Given the description of an element on the screen output the (x, y) to click on. 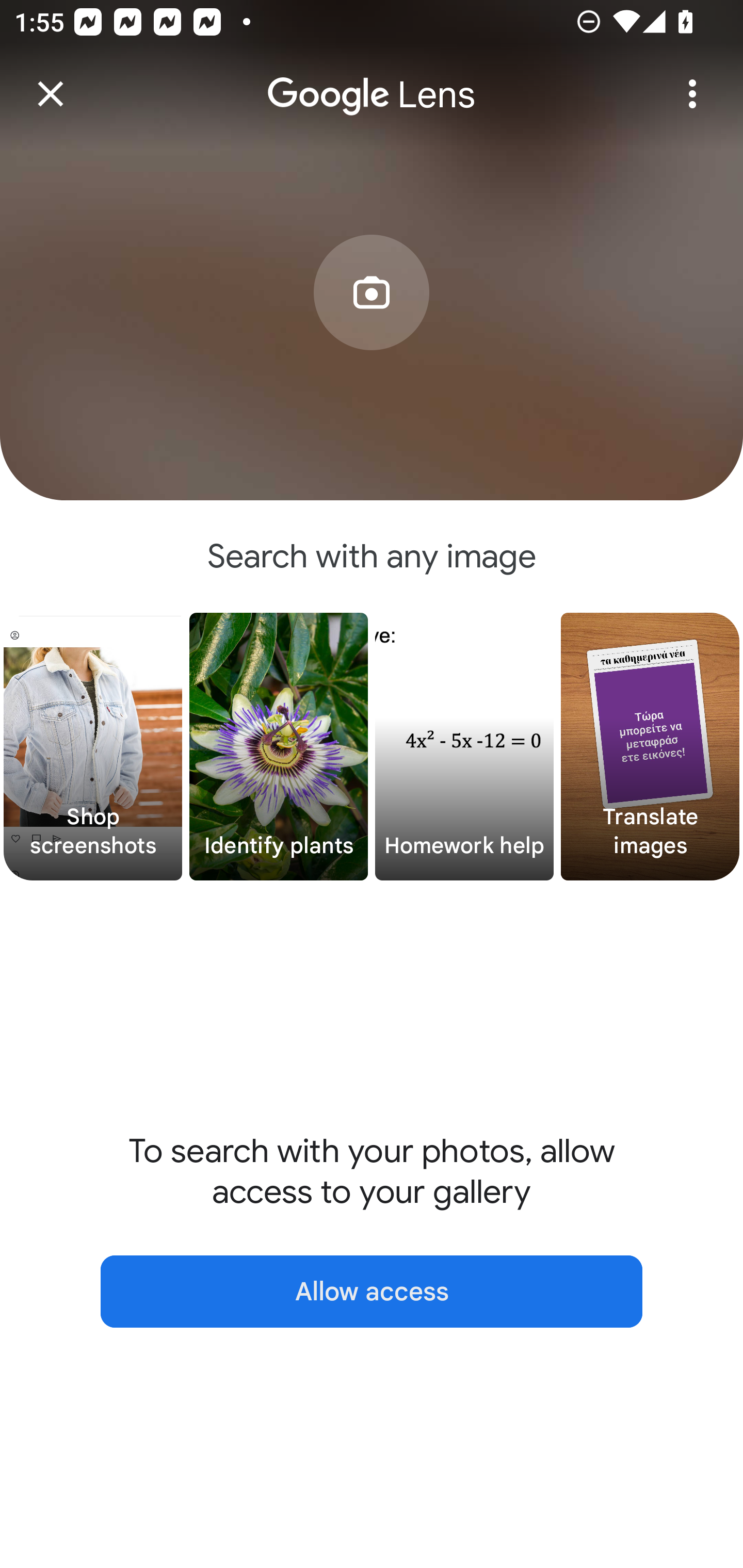
Google Lens Lens (371, 80)
Close (50, 94)
More options (692, 94)
Search with your camera (371, 326)
Shop screenshots (92, 747)
Identify plants (278, 747)
Homework help (464, 747)
Translate images (649, 747)
Allow access (371, 1291)
